Given the description of an element on the screen output the (x, y) to click on. 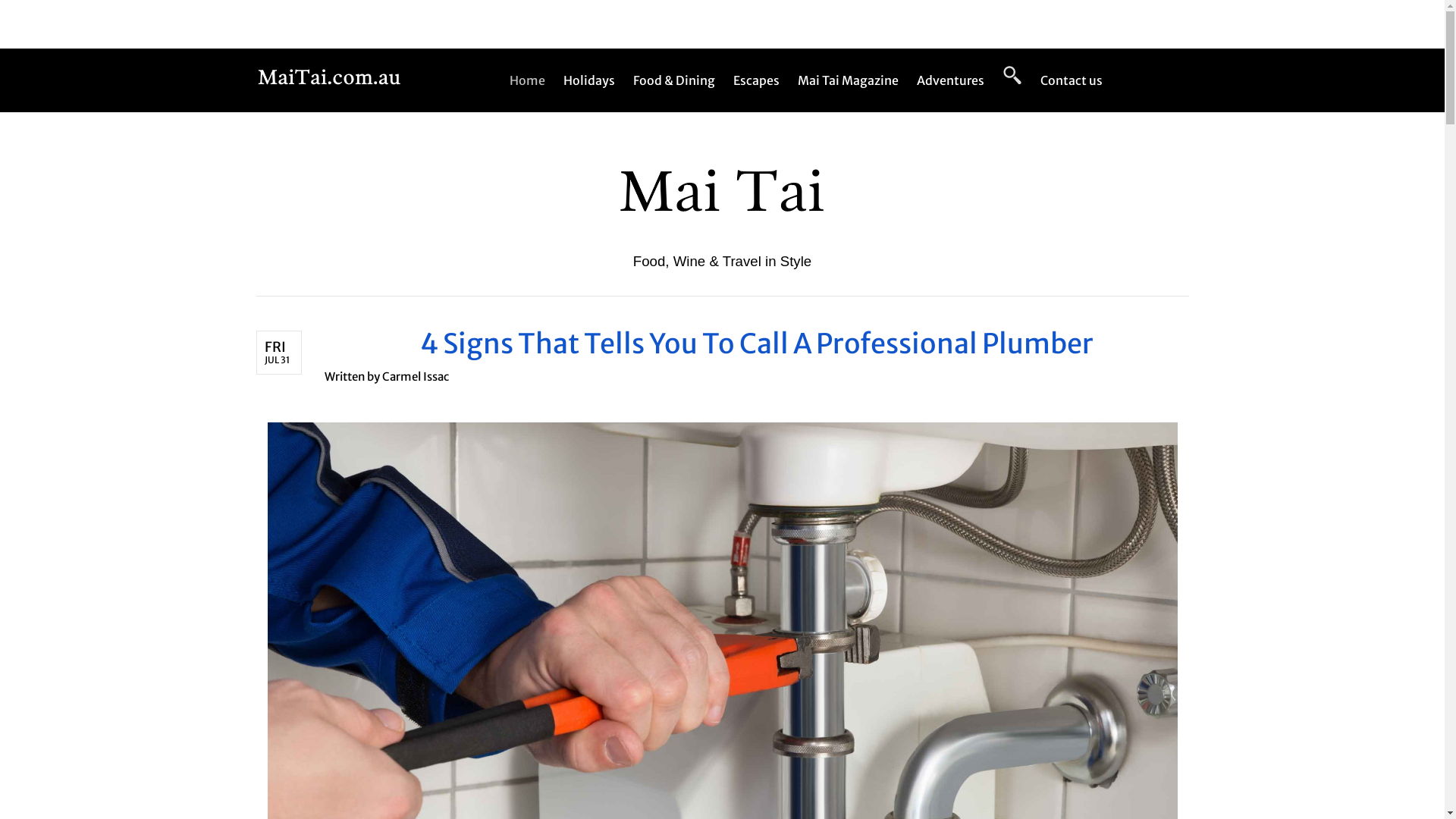
Home Element type: text (531, 80)
Adventures Element type: text (950, 80)
Food & Dining Element type: text (674, 80)
Holidays Element type: text (589, 80)
Mai Tai Magazine Element type: text (847, 80)
Escapes Element type: text (756, 80)
Contact us Element type: text (1066, 80)
